Given the description of an element on the screen output the (x, y) to click on. 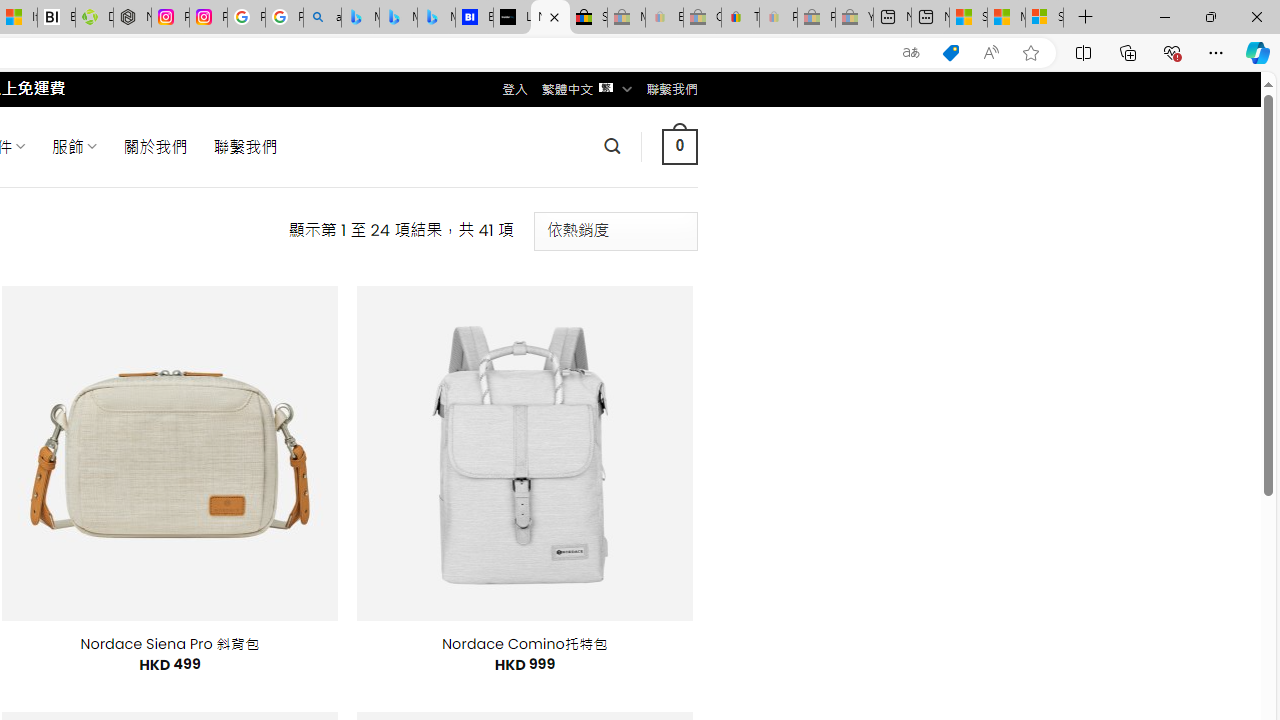
alabama high school quarterback dies - Search (321, 17)
Selling on eBay | Electronics, Fashion, Home & Garden | eBay (587, 17)
Payments Terms of Use | eBay.com - Sleeping (778, 17)
Sign in to your Microsoft account (1044, 17)
